Given the description of an element on the screen output the (x, y) to click on. 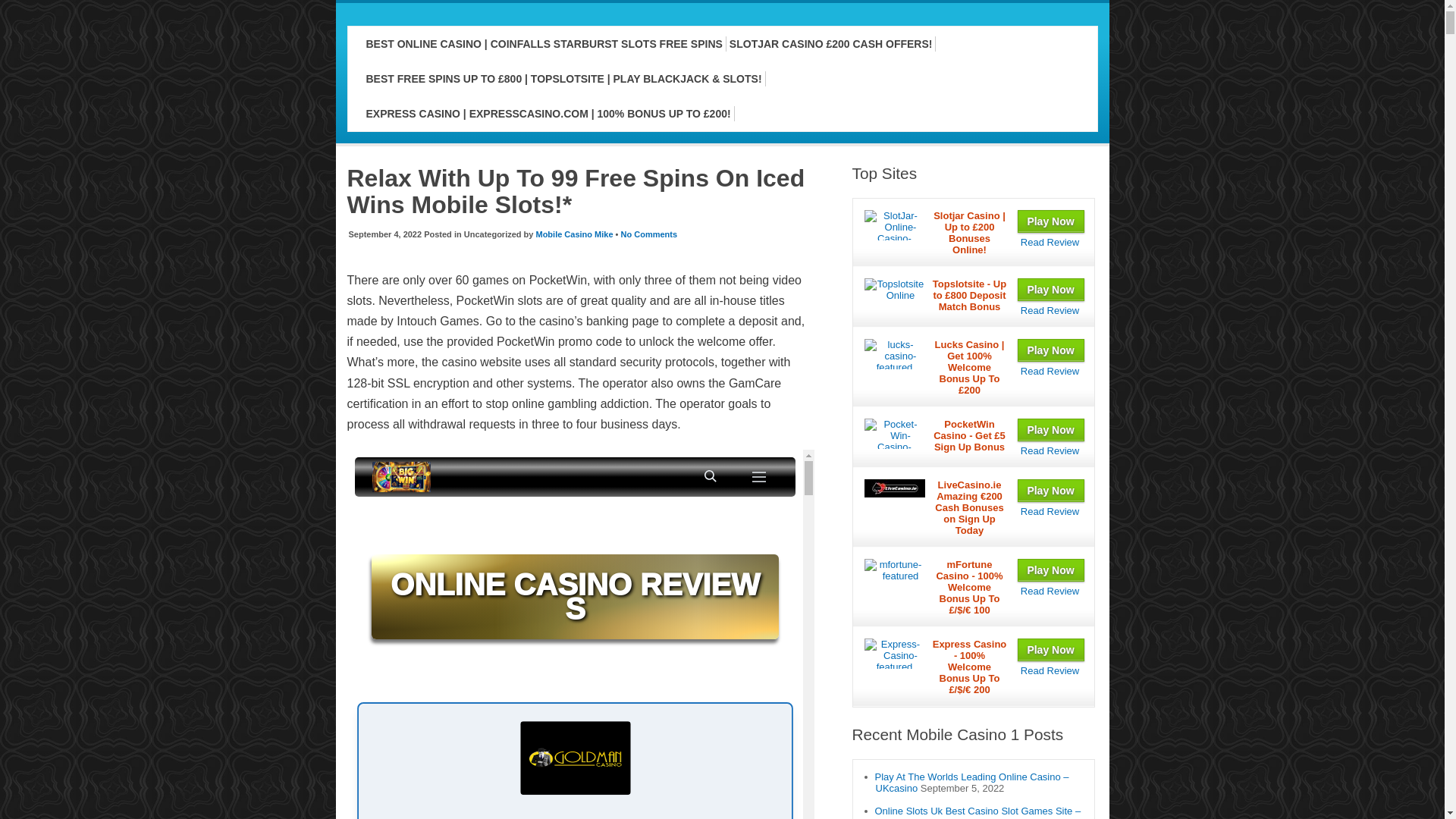
Play Now (1050, 289)
LiveCasino.ie - Cash Bonus Slots and Games Deals Site (1049, 511)
Read Review (1049, 242)
Play Now (1050, 490)
Read Review (1049, 450)
Play Now (1050, 429)
Play Now (1050, 220)
Read Review (1049, 370)
Play Now (1050, 350)
No Comments (649, 234)
Mobile Casino Mike (573, 234)
Read Review (1049, 310)
Posts by Mobile Casino Mike (573, 234)
